Given the description of an element on the screen output the (x, y) to click on. 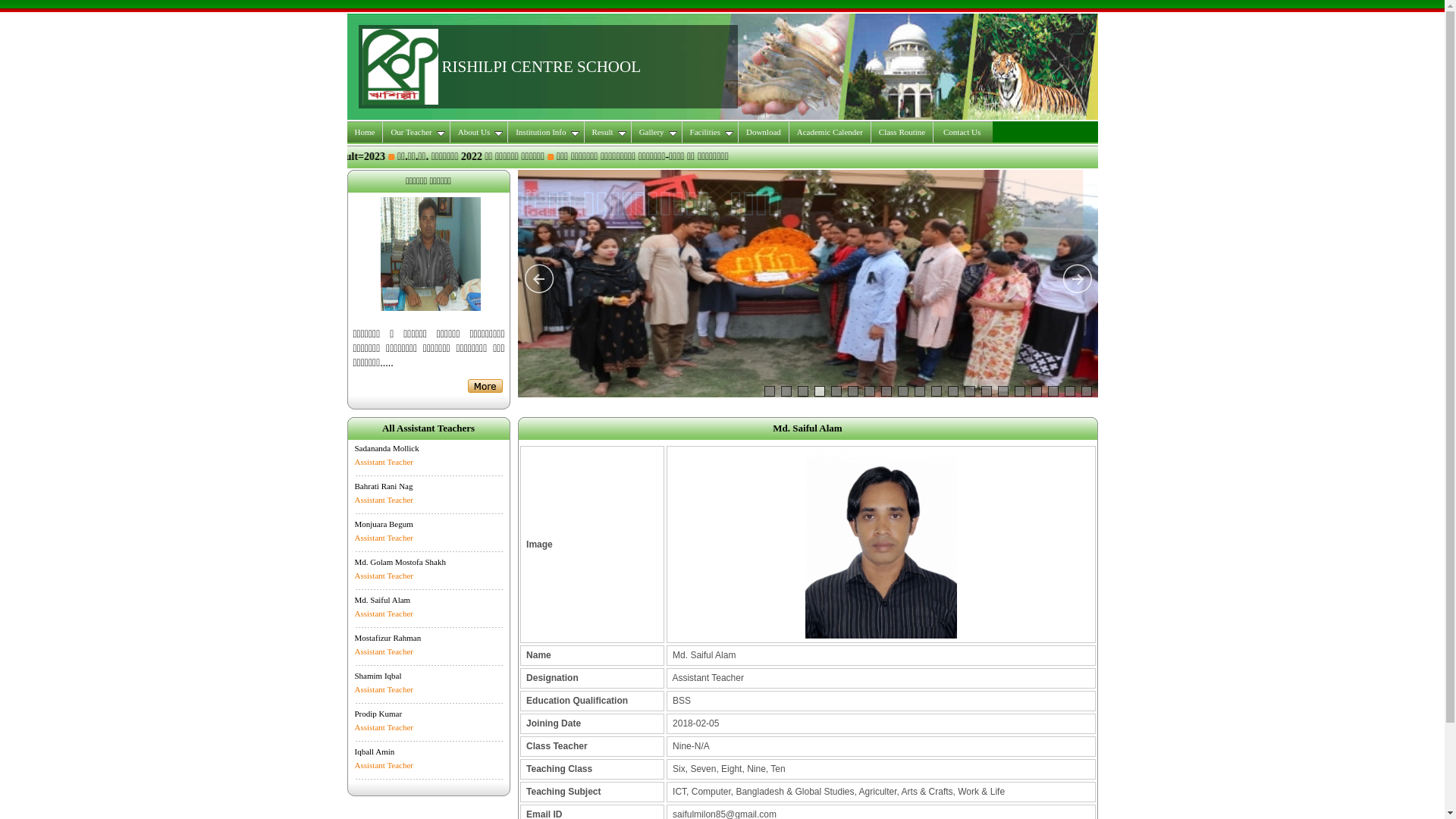
Gallery Element type: text (656, 131)
Bahrati Rani Nag Element type: text (383, 485)
Md. Saiful Alam Element type: text (382, 599)
 Contact Us   Element type: text (962, 131)
Home Element type: text (365, 131)
Mostafizur Rahman Element type: text (387, 637)
Institution Info Element type: text (545, 131)
Md. Golam Mostofa Shakh Element type: text (399, 561)
Sadananda Mollick Element type: text (386, 447)
Facilities Element type: text (710, 131)
Academic Calender Element type: text (830, 131)
Prodip Kumar Element type: text (378, 713)
Monjuara Begum Element type: text (383, 523)
Iqball Amin Element type: text (374, 751)
SSC Result=2023 Element type: text (640, 156)
Class Routine Element type: text (902, 131)
About Us Element type: text (479, 131)
Shamim Iqbal Element type: text (377, 675)
Our Teacher Element type: text (415, 131)
Download Element type: text (763, 131)
Result Element type: text (606, 131)
